Given the description of an element on the screen output the (x, y) to click on. 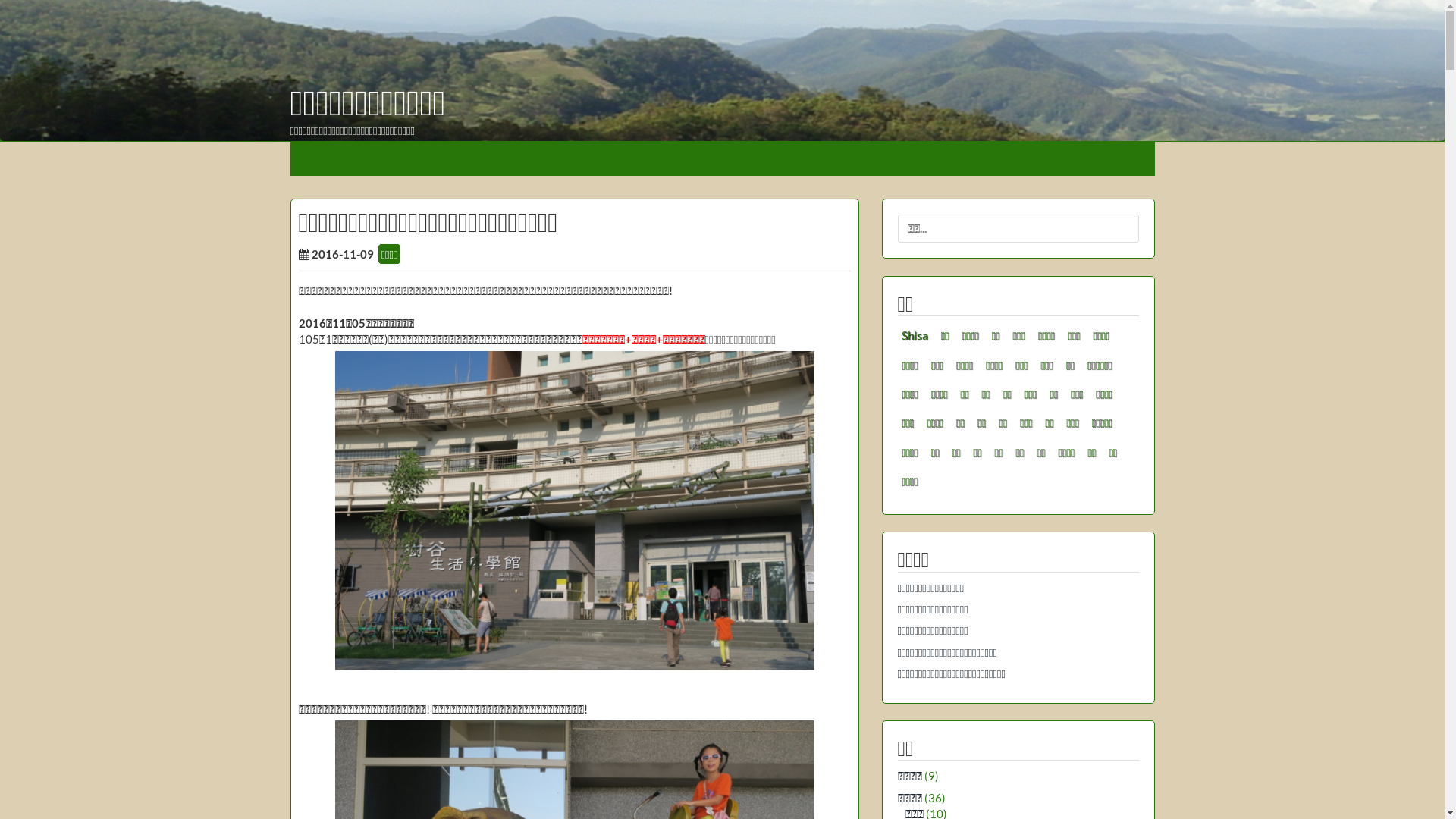
20161105-Southern-Tainan-Treevalleymuseum-1 Element type: hover (574, 511)
Shisa Element type: text (914, 335)
